Given the description of an element on the screen output the (x, y) to click on. 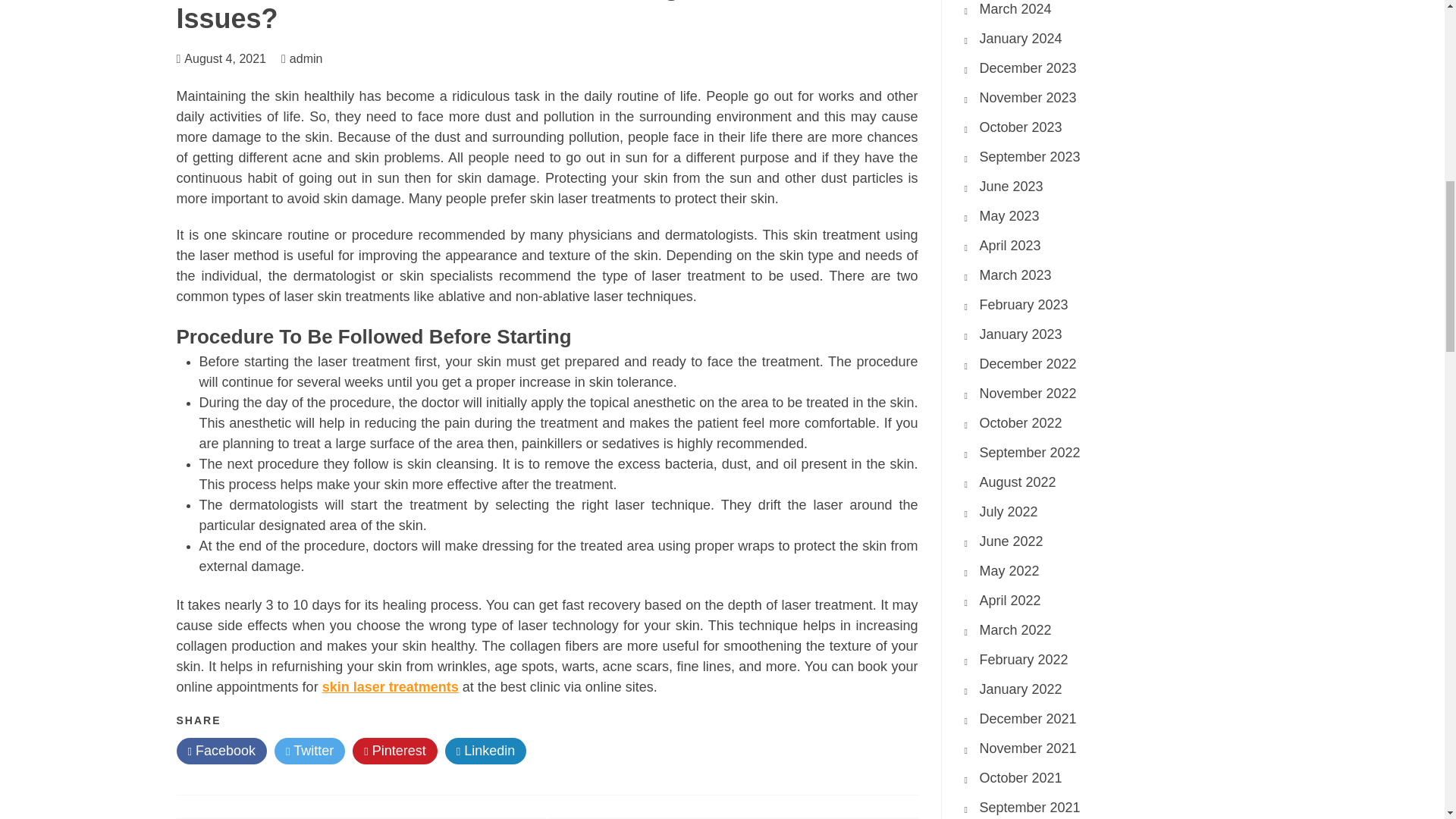
admin (313, 58)
Linkedin (486, 750)
skin laser treatments (389, 686)
Pinterest (395, 750)
Facebook (221, 750)
August 4, 2021 (225, 58)
Twitter (310, 750)
